Given the description of an element on the screen output the (x, y) to click on. 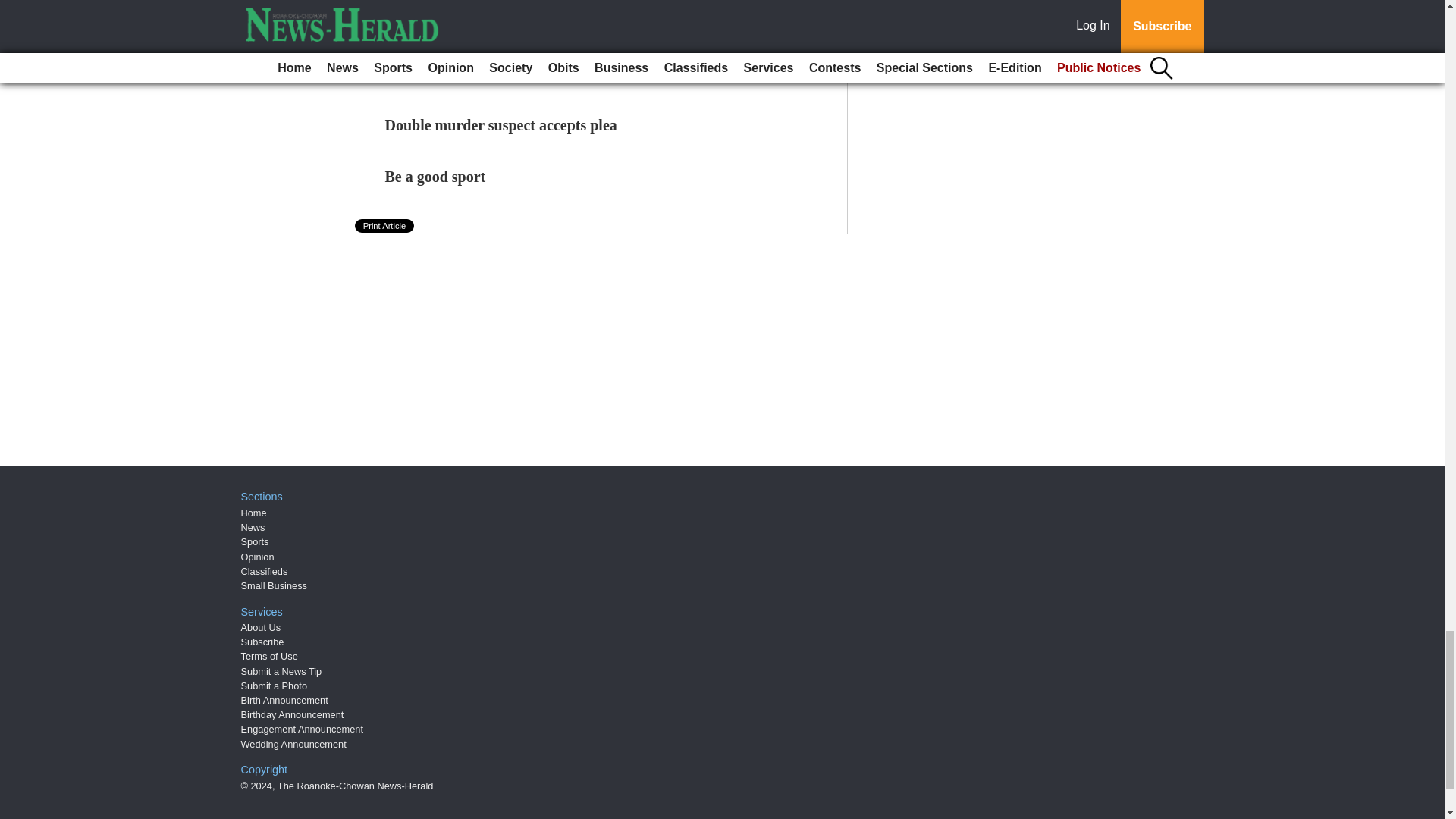
Double murder suspect accepts plea (501, 125)
Double murder suspect accepts plea (501, 125)
Print Article (384, 225)
Bertie Under Warning until 5:00 pm (503, 21)
Double murder suspect enters guilty plea (517, 73)
Bertie Under Warning until 5:00 pm (503, 21)
Be a good sport (435, 176)
Be a good sport (435, 176)
Double murder suspect enters guilty plea (517, 73)
